Given the description of an element on the screen output the (x, y) to click on. 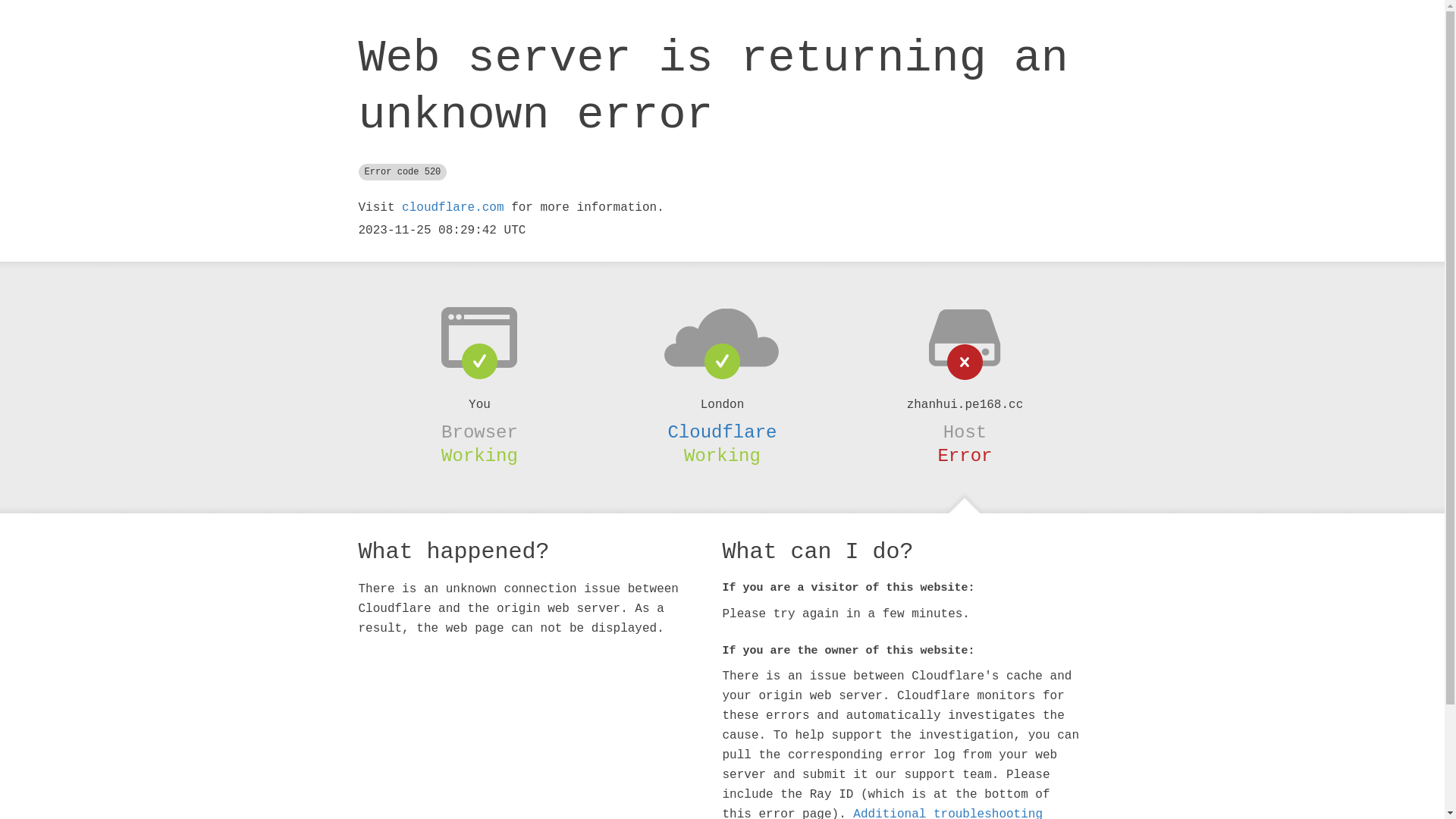
Cloudflare Element type: text (721, 432)
cloudflare.com Element type: text (452, 207)
